Given the description of an element on the screen output the (x, y) to click on. 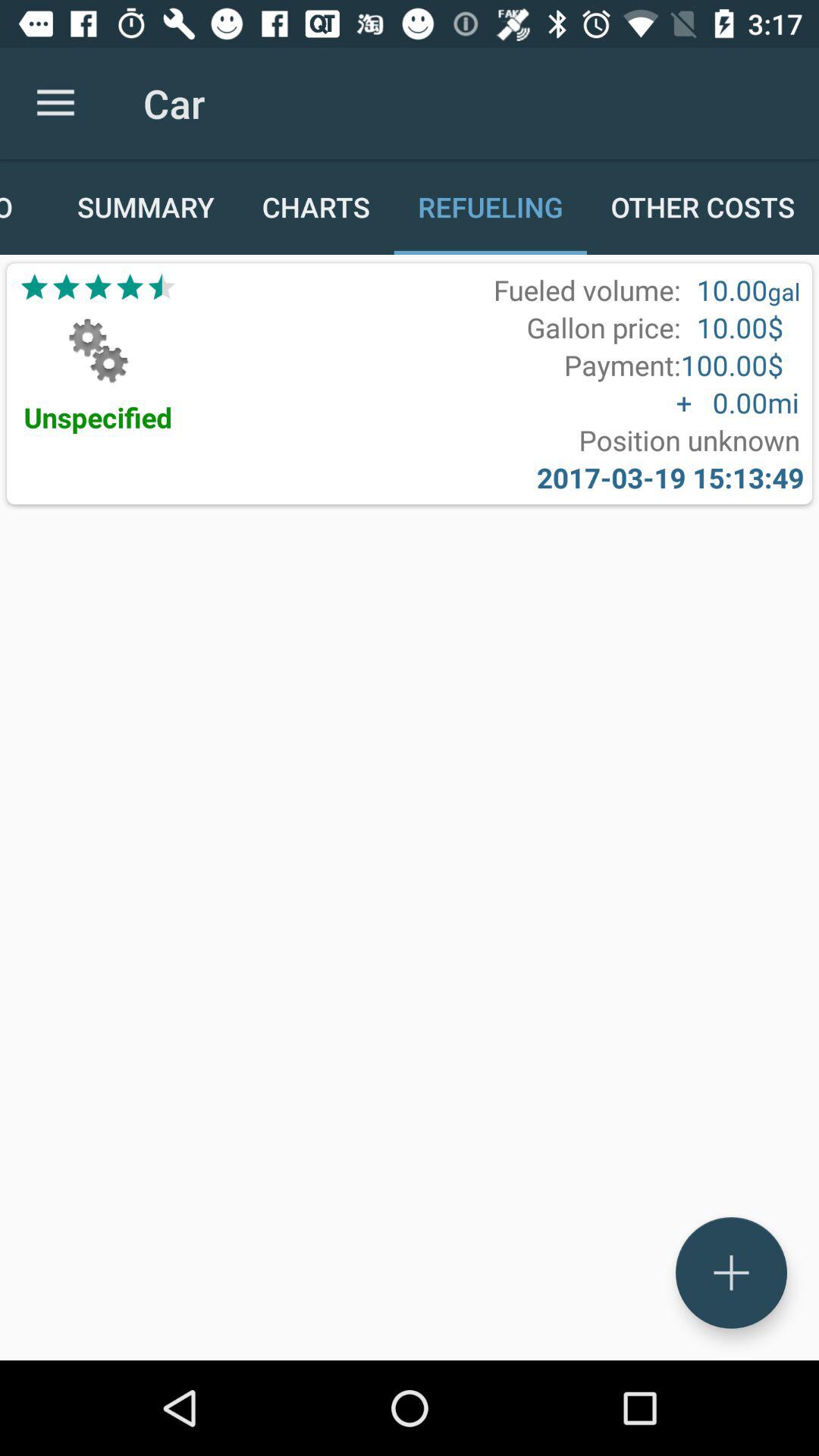
click the item above the payment: item (603, 327)
